Given the description of an element on the screen output the (x, y) to click on. 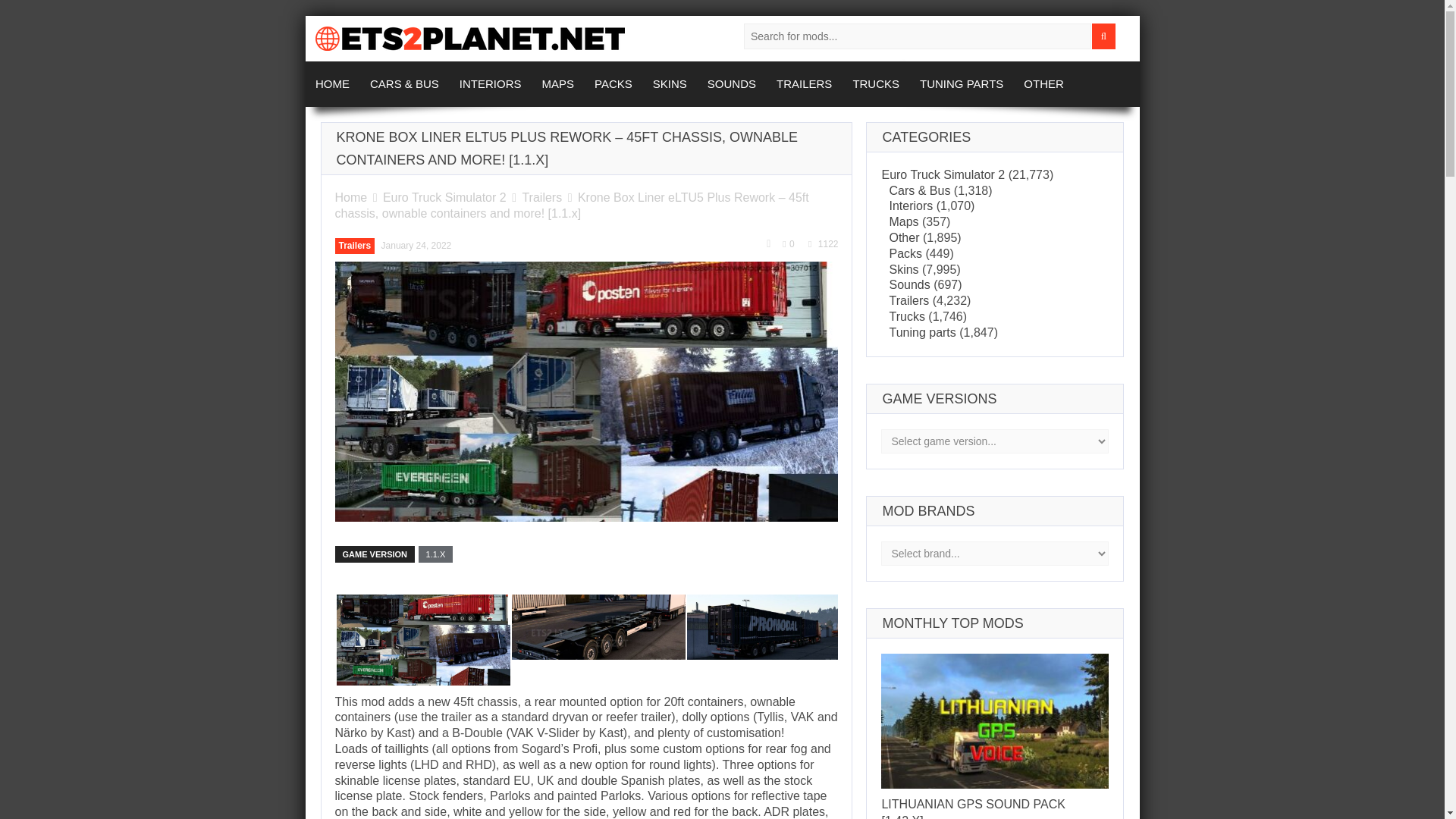
MAPS (558, 84)
0 (788, 244)
Recommend this (768, 244)
Euro Truck Simulator 2 (444, 196)
PACKS (614, 84)
SOUNDS (731, 84)
TRUCKS (876, 84)
TRAILERS (805, 84)
TUNING PARTS (961, 84)
SKINS (669, 84)
INTERIORS (489, 84)
HOME (331, 84)
4:45 am (416, 245)
Trailers (541, 196)
